Given the description of an element on the screen output the (x, y) to click on. 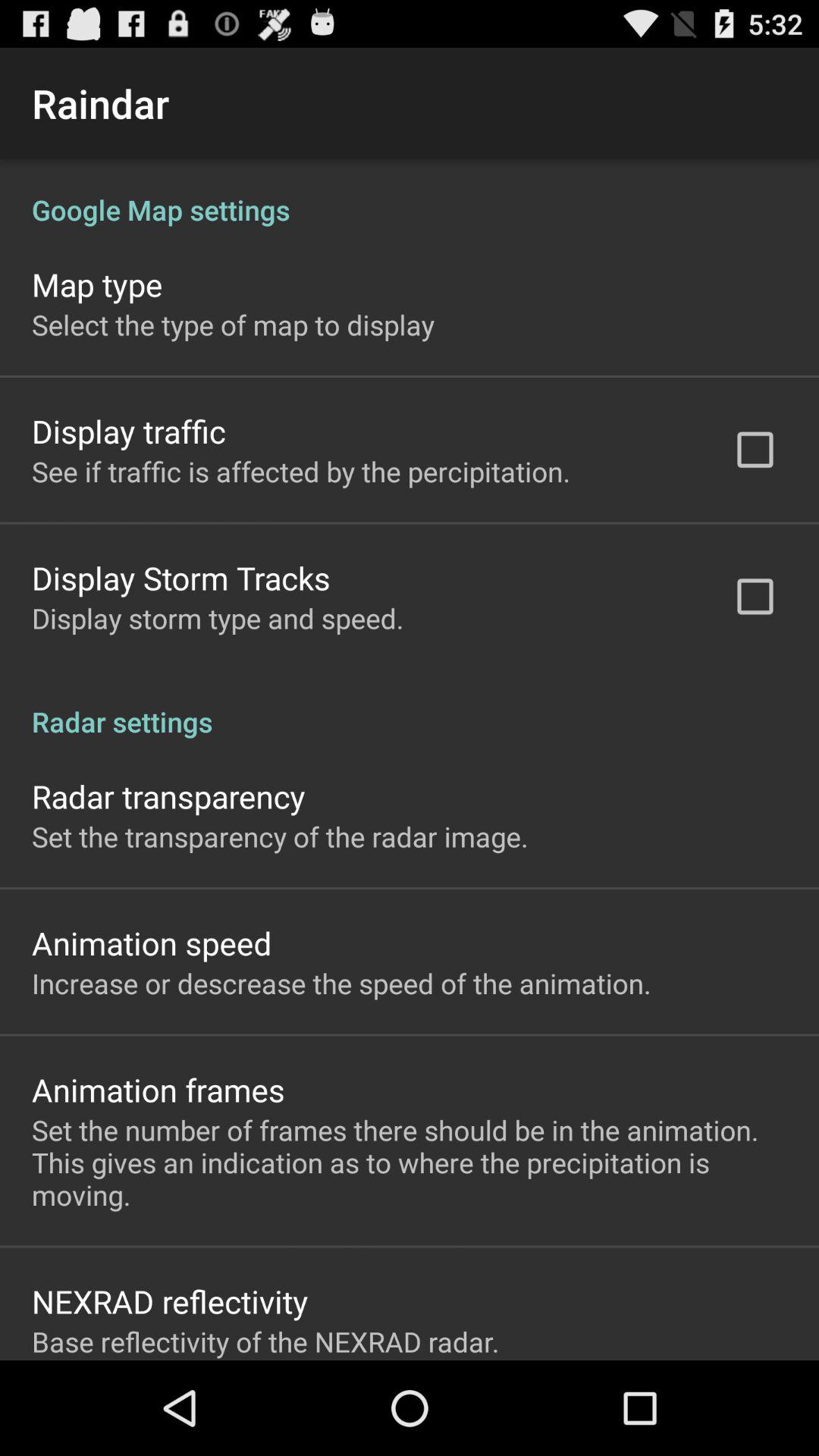
scroll until display traffic item (128, 430)
